Given the description of an element on the screen output the (x, y) to click on. 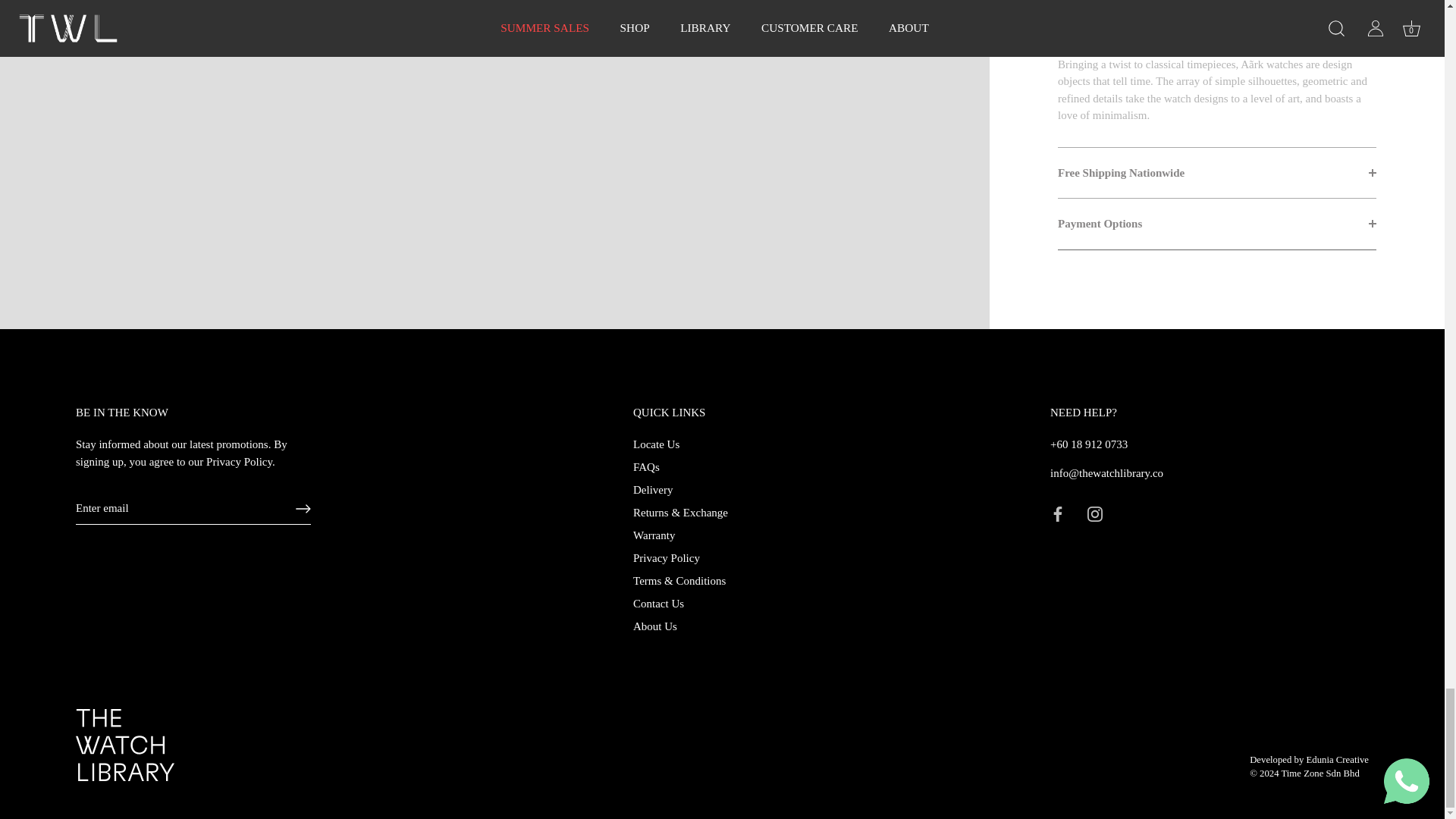
Instagram (1094, 513)
RIGHT ARROW LONG (303, 508)
Privacy Policy (239, 460)
